Given the description of an element on the screen output the (x, y) to click on. 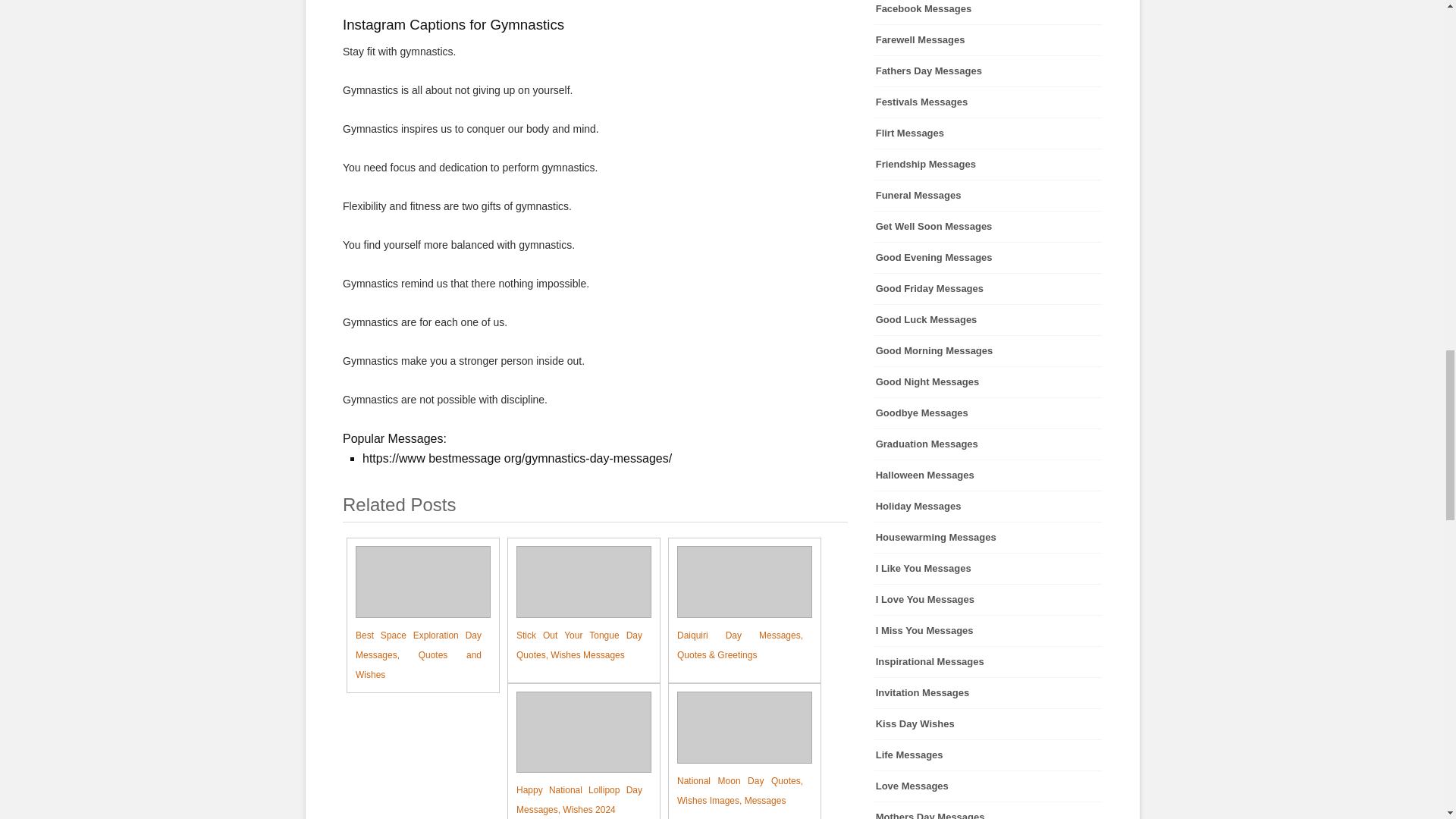
National Moon Day Quotes, Wishes Images, Messages (735, 750)
National Moon Day Quotes, Wishes Images, Messages (735, 750)
Happy National Lollipop Day Messages, Wishes 2024 (575, 755)
Stick Out Your Tongue Day Quotes, Wishes Messages (575, 605)
Best Space Exploration Day Messages, Quotes and Wishes (414, 615)
Happy National Lollipop Day Messages, Wishes 2024 (575, 755)
Best Space Exploration Day Messages, Quotes and Wishes (414, 615)
Stick Out Your Tongue Day Quotes, Wishes Messages (575, 605)
